Given the description of an element on the screen output the (x, y) to click on. 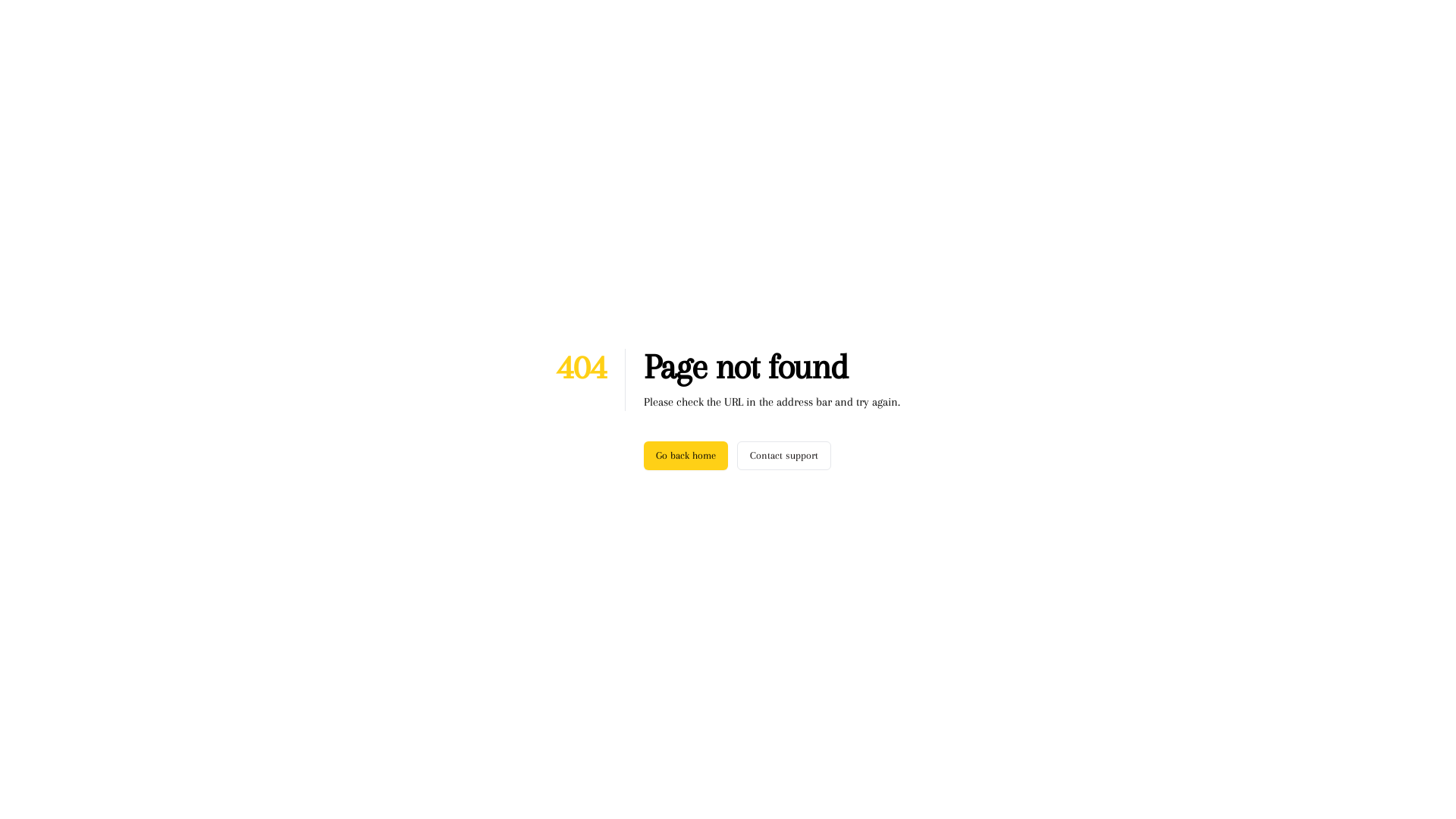
Go back home Element type: text (685, 455)
Contact support Element type: text (784, 455)
